Given the description of an element on the screen output the (x, y) to click on. 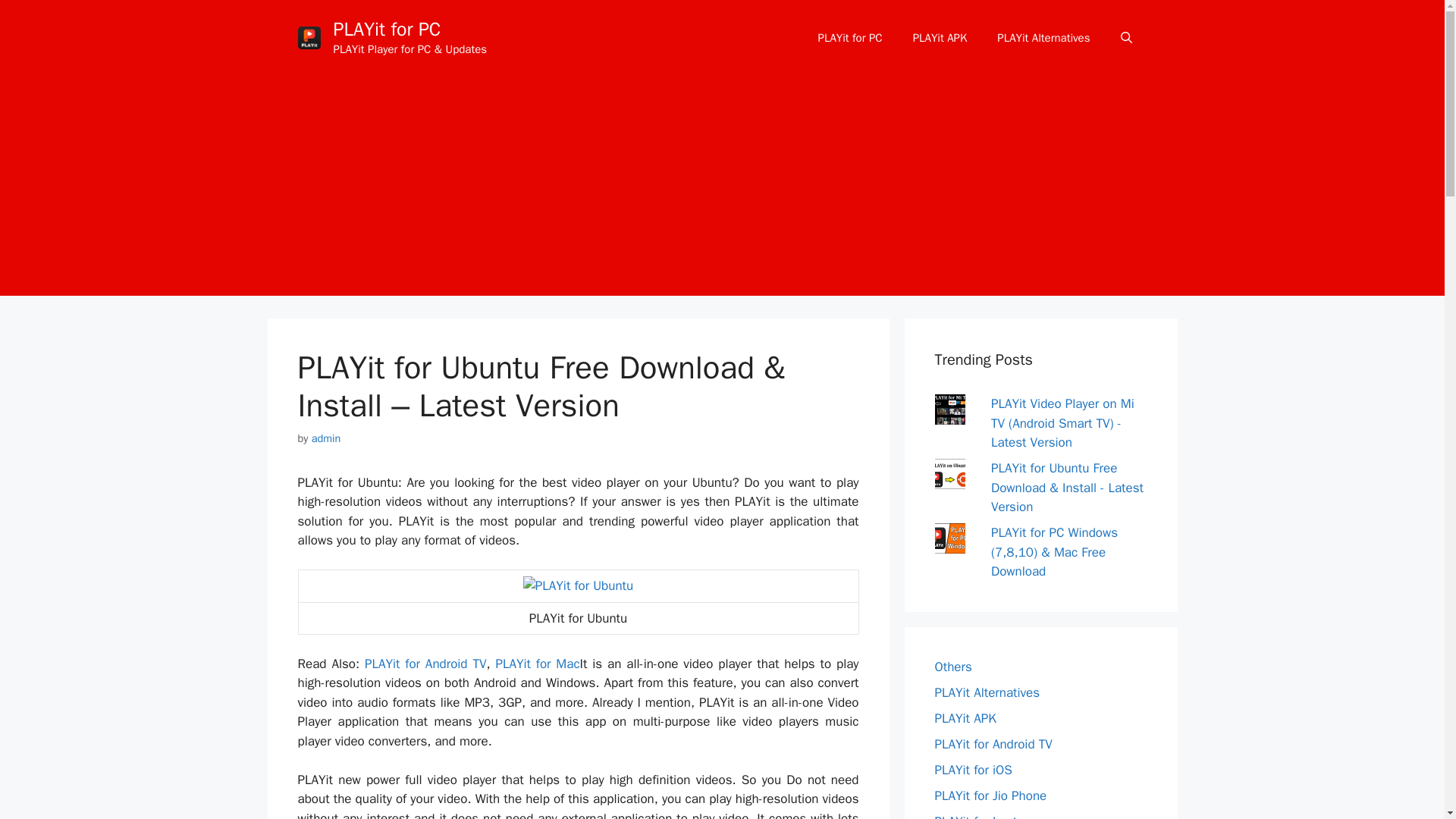
PLAYit for iOS (972, 769)
Others (952, 666)
PLAYit APK (940, 37)
PLAYit for Jio Phone (990, 795)
PLAYit for PC (850, 37)
PLAYit for Mac (537, 663)
PLAYit APK (964, 717)
PLAYit for Android TV (992, 743)
PLAYit for Ubuntu (577, 586)
PLAYit for Laptop (982, 816)
